Given the description of an element on the screen output the (x, y) to click on. 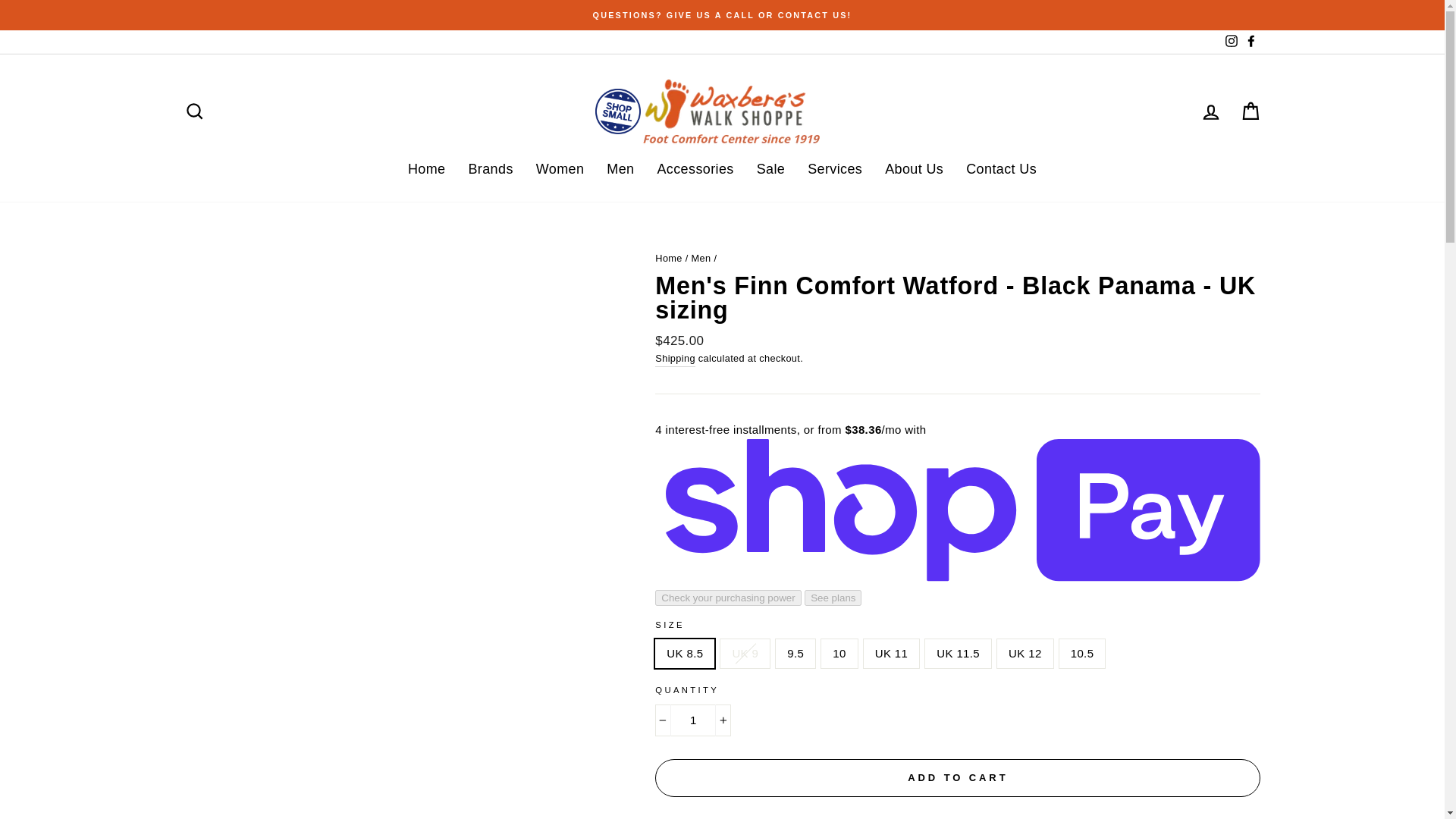
Back to the frontpage (668, 257)
1 (692, 720)
